Given the description of an element on the screen output the (x, y) to click on. 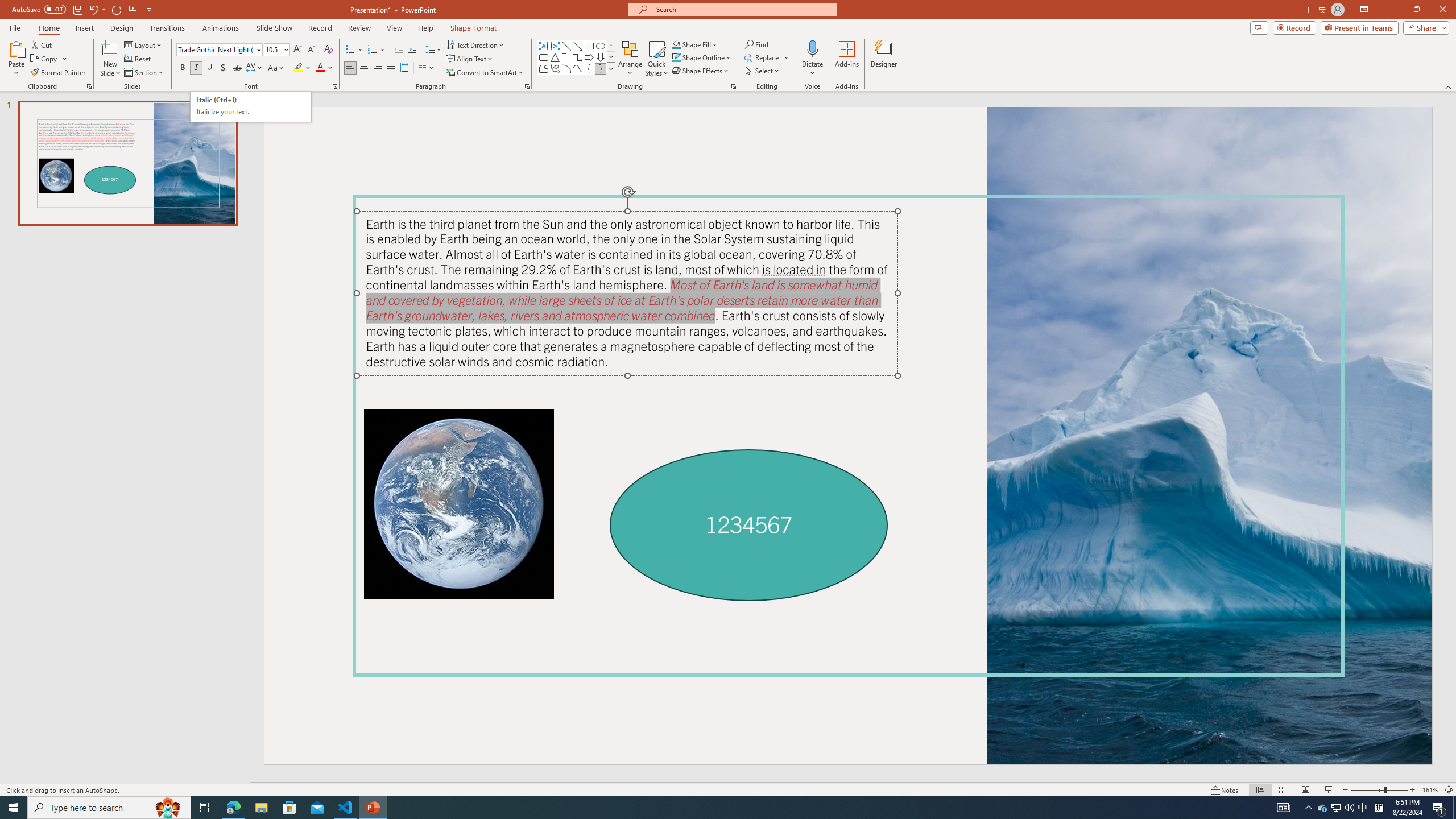
Shape Fill Aqua, Accent 2 (675, 44)
